Given the description of an element on the screen output the (x, y) to click on. 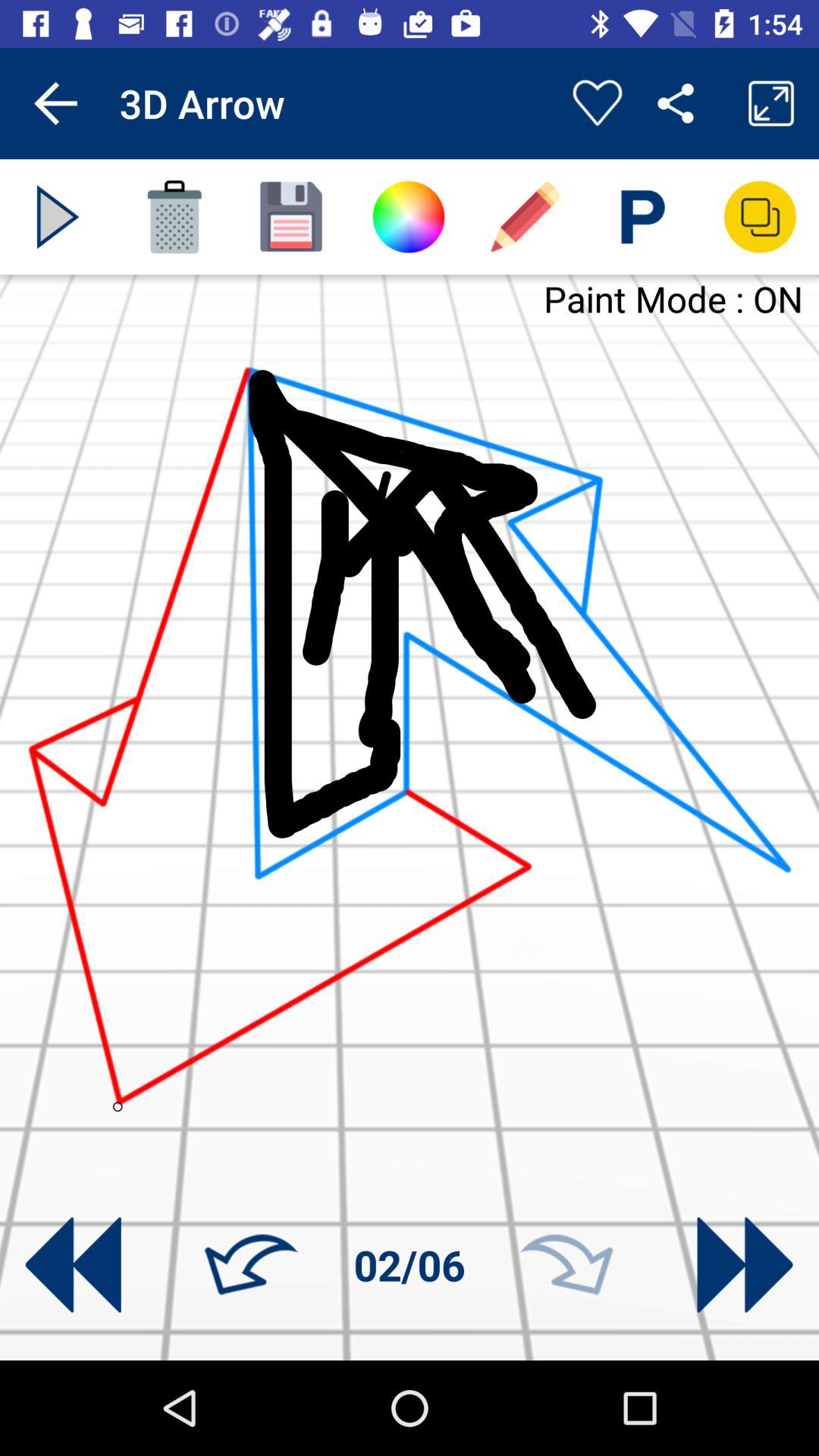
type text (642, 216)
